Given the description of an element on the screen output the (x, y) to click on. 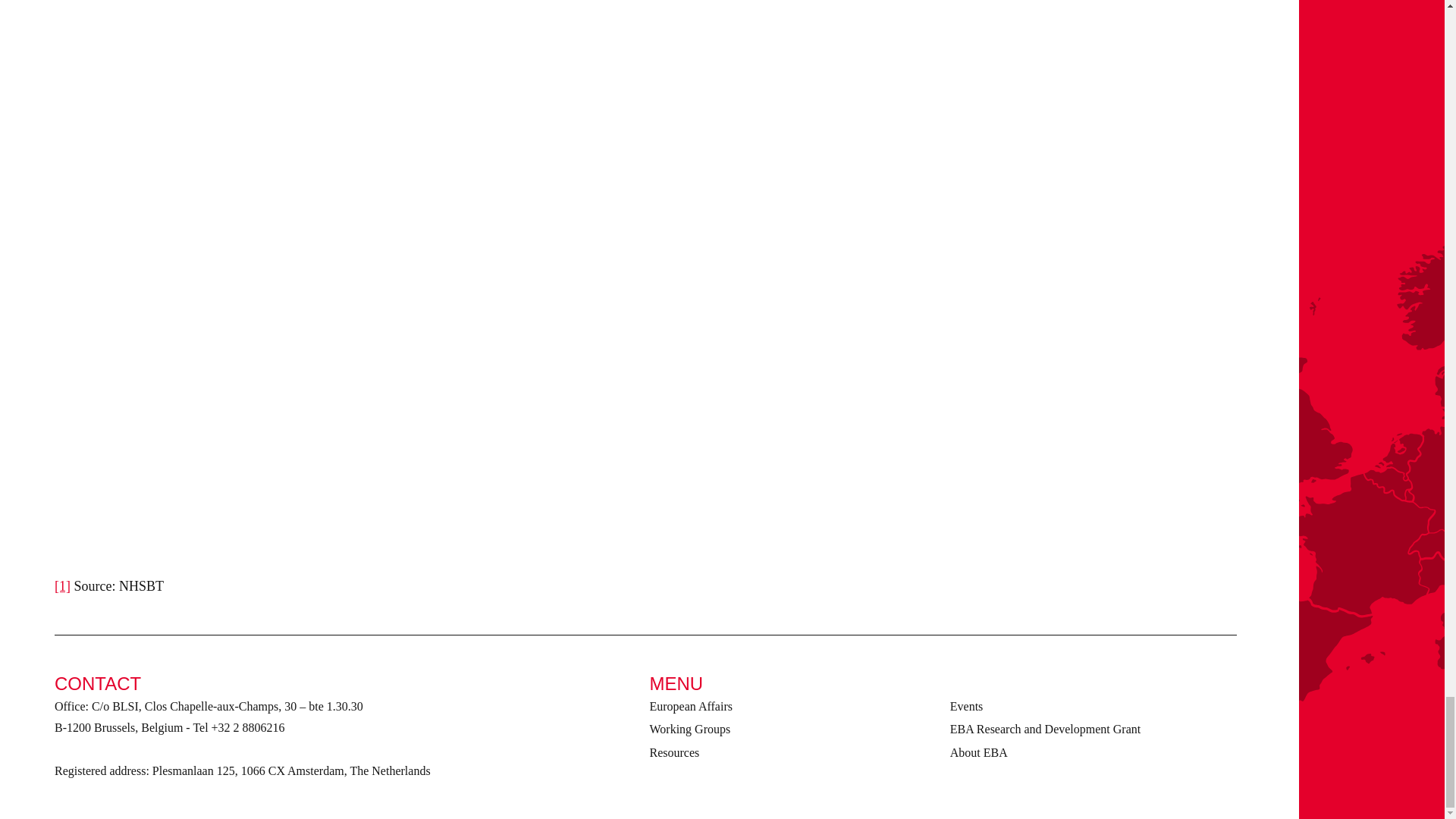
Working Groups (689, 728)
About EBA (978, 752)
European Affairs (690, 706)
EBA Research and Development Grant (1045, 728)
Resources (673, 752)
Events (967, 706)
